Given the description of an element on the screen output the (x, y) to click on. 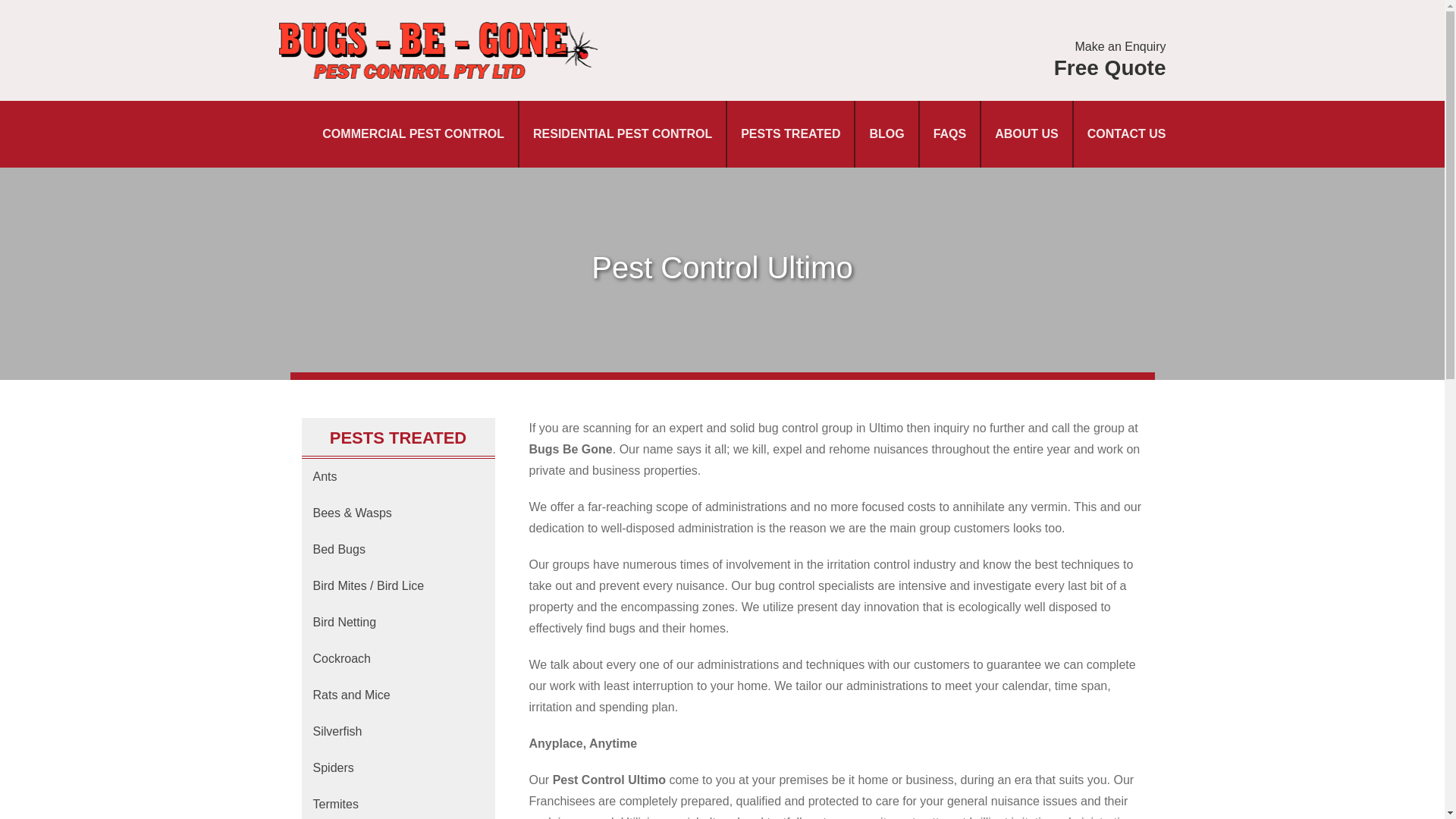
Spiders (398, 767)
ABOUT US (1026, 133)
Bird Netting (398, 622)
Cockroach (398, 658)
PESTS TREATED (790, 133)
Free Quote (1110, 67)
Silverfish (398, 731)
CONTACT US (1126, 133)
Bed Bugs (398, 549)
Ants (398, 476)
Rats and Mice (398, 694)
COMMERCIAL PEST CONTROL (412, 133)
RESIDENTIAL PEST CONTROL (621, 133)
BLOG (886, 133)
FAQS (949, 133)
